Given the description of an element on the screen output the (x, y) to click on. 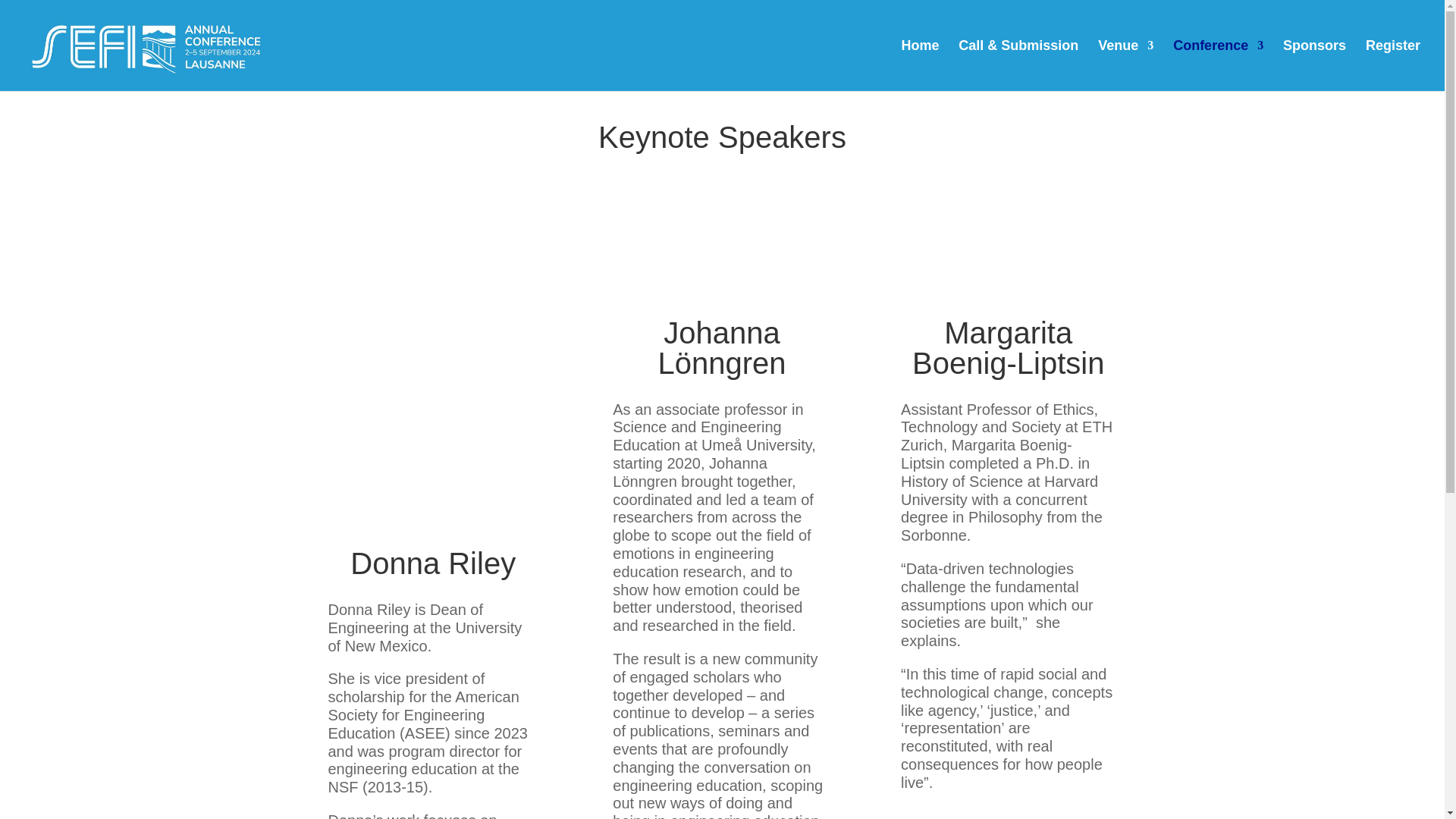
Register (1393, 65)
Conference (1218, 65)
Venue (1125, 65)
Sponsors (1313, 65)
